Given the description of an element on the screen output the (x, y) to click on. 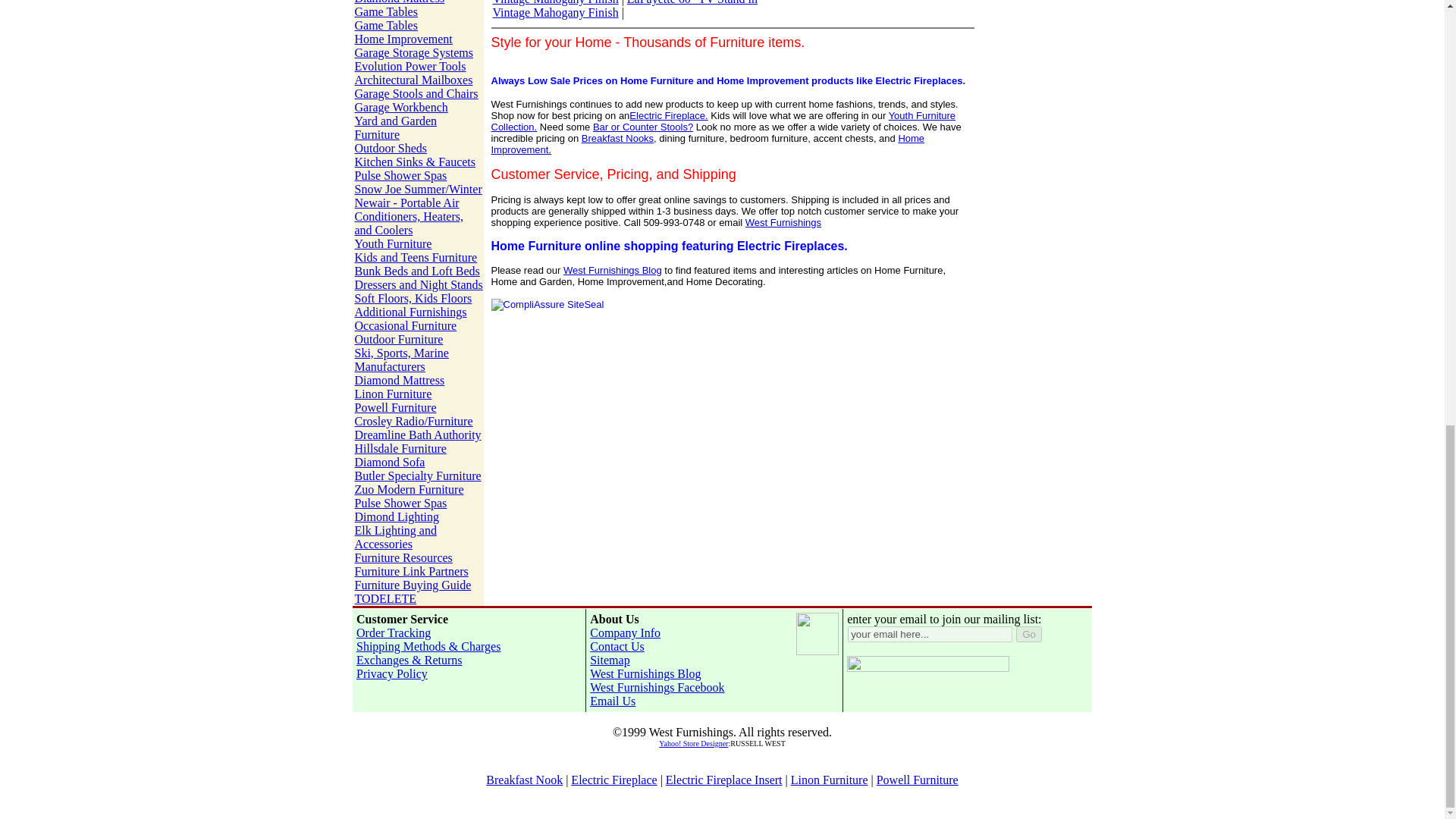
Go (1029, 634)
your email here... (929, 634)
